Given the description of an element on the screen output the (x, y) to click on. 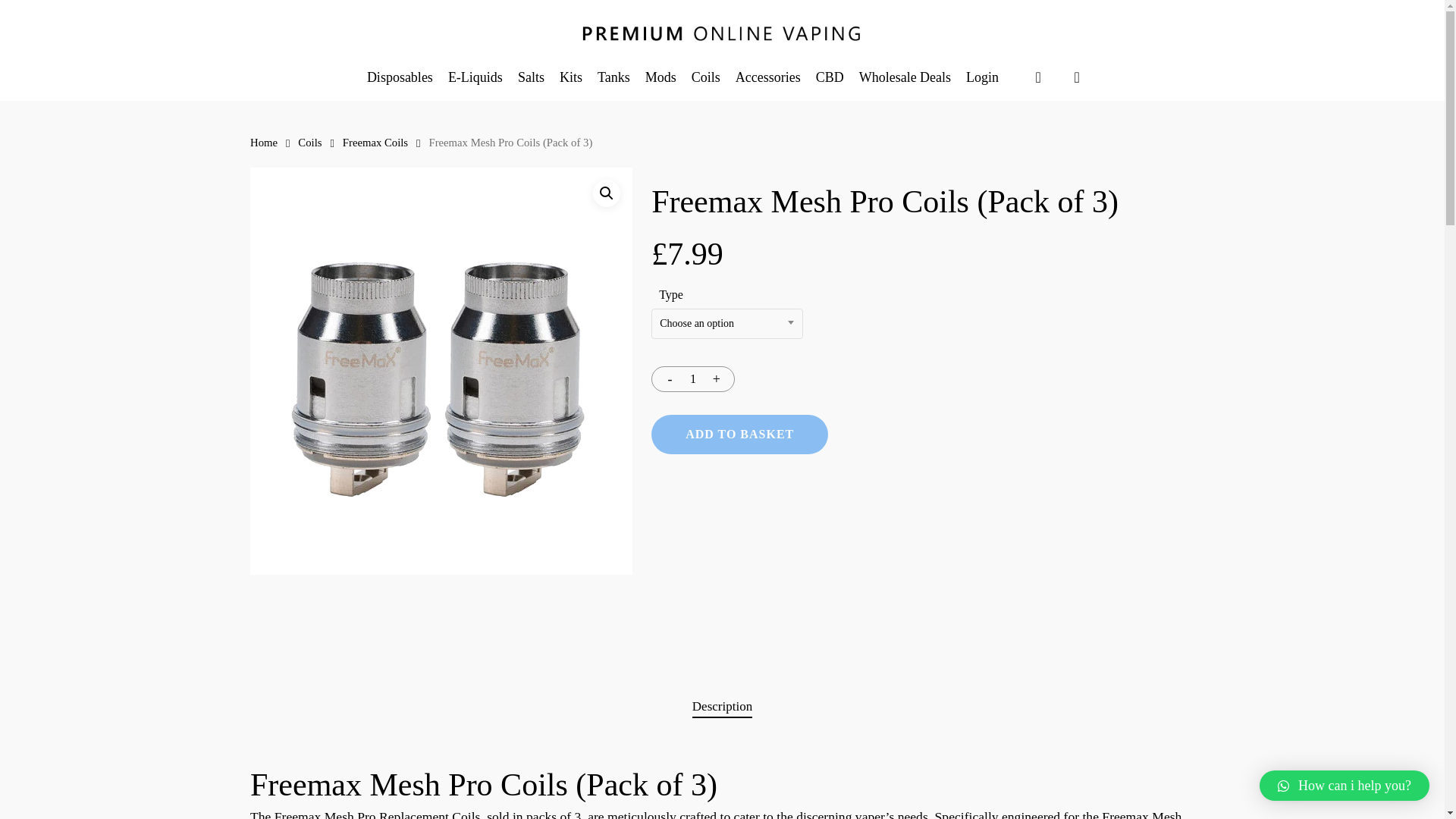
Choose an option (727, 323)
- (665, 378)
1 (692, 378)
Disposables (400, 77)
E-Liquids (476, 77)
